Given the description of an element on the screen output the (x, y) to click on. 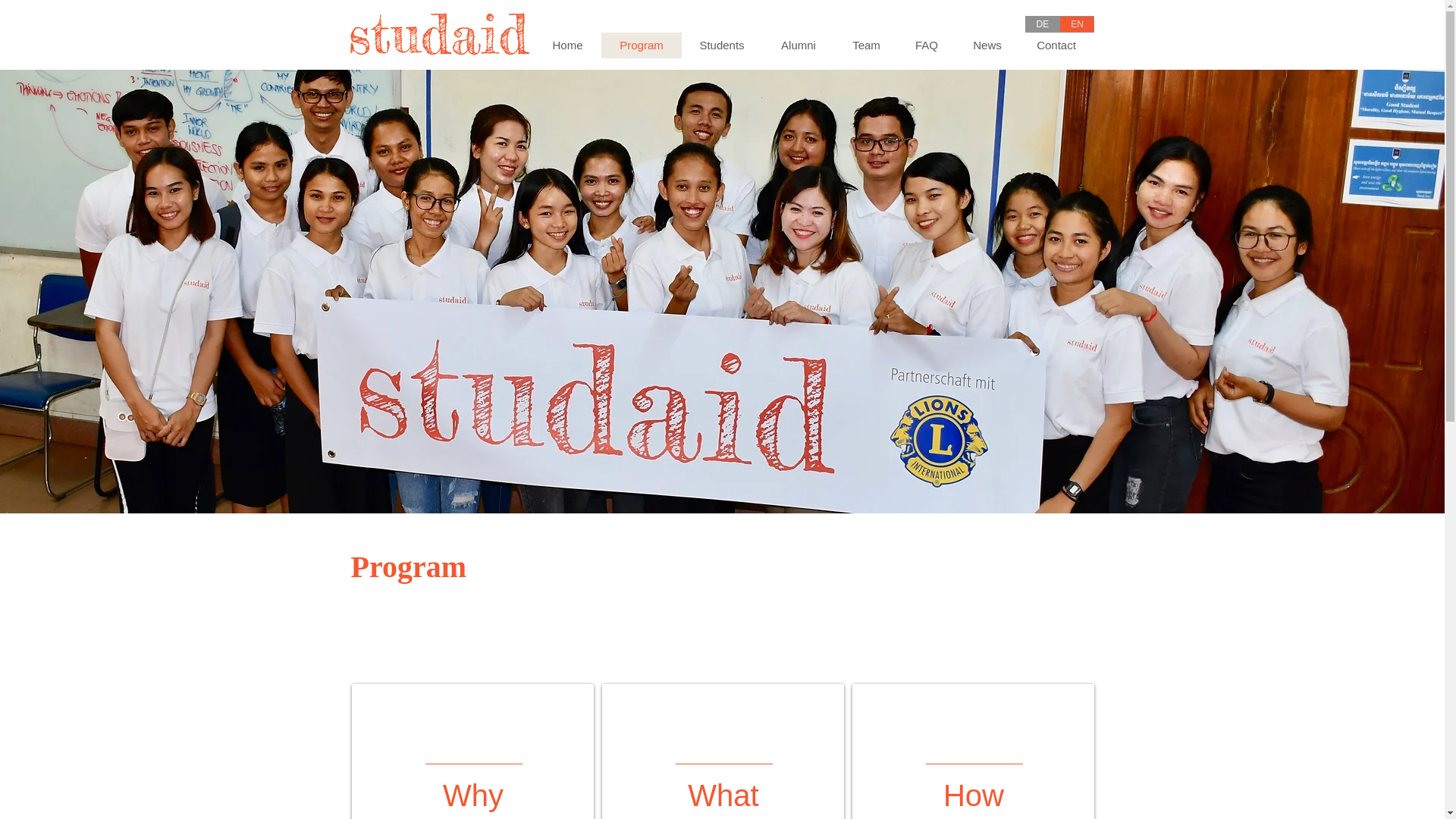
DE (1042, 23)
How (973, 795)
Contact (1056, 45)
EN (1076, 23)
FAQ (926, 45)
Why (472, 795)
Home (566, 45)
Students (721, 45)
Alumni (797, 45)
What (722, 795)
Program (640, 45)
Team (865, 45)
News (987, 45)
